Given the description of an element on the screen output the (x, y) to click on. 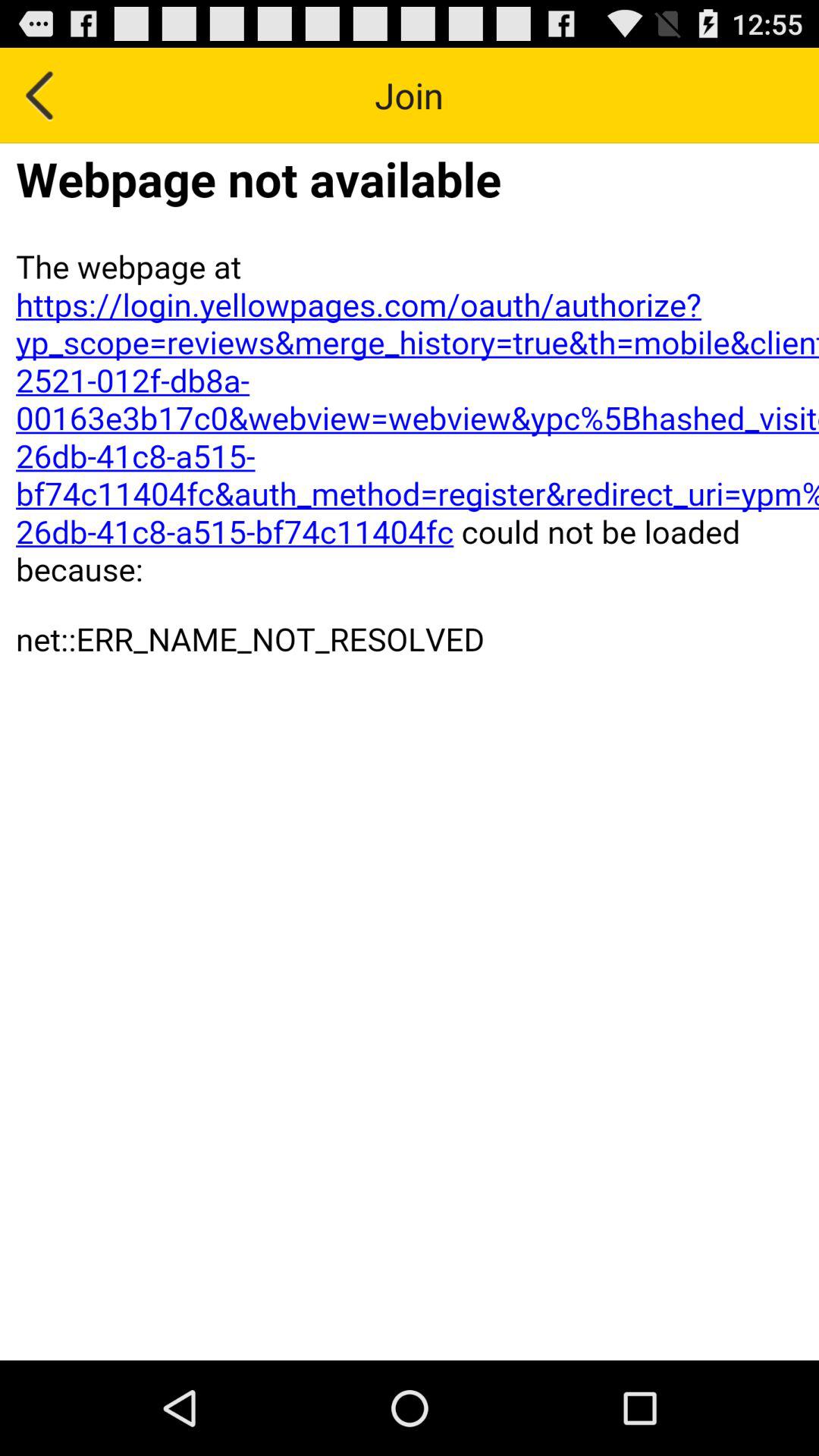
go back (40, 95)
